Given the description of an element on the screen output the (x, y) to click on. 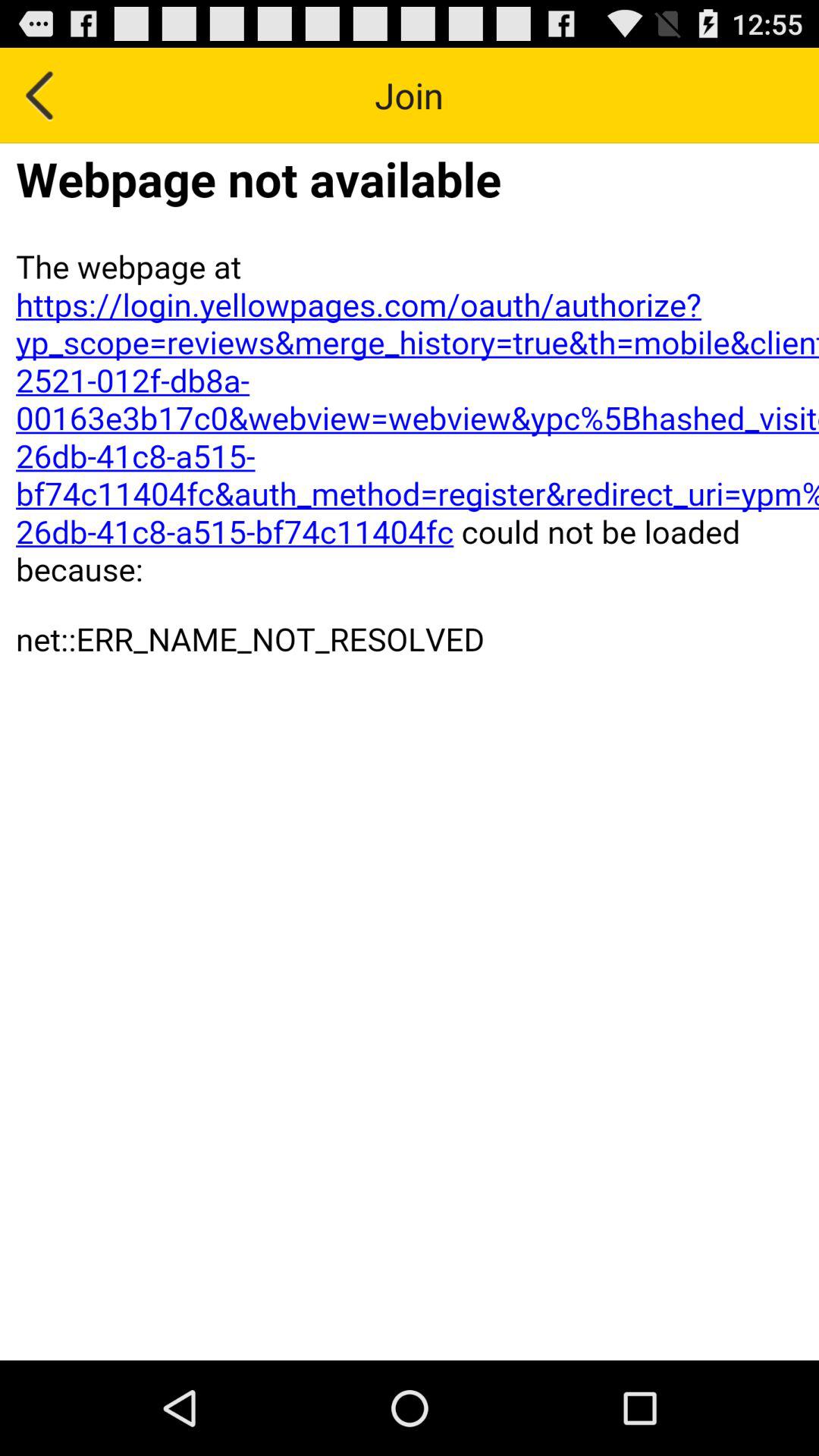
go back (40, 95)
